Given the description of an element on the screen output the (x, y) to click on. 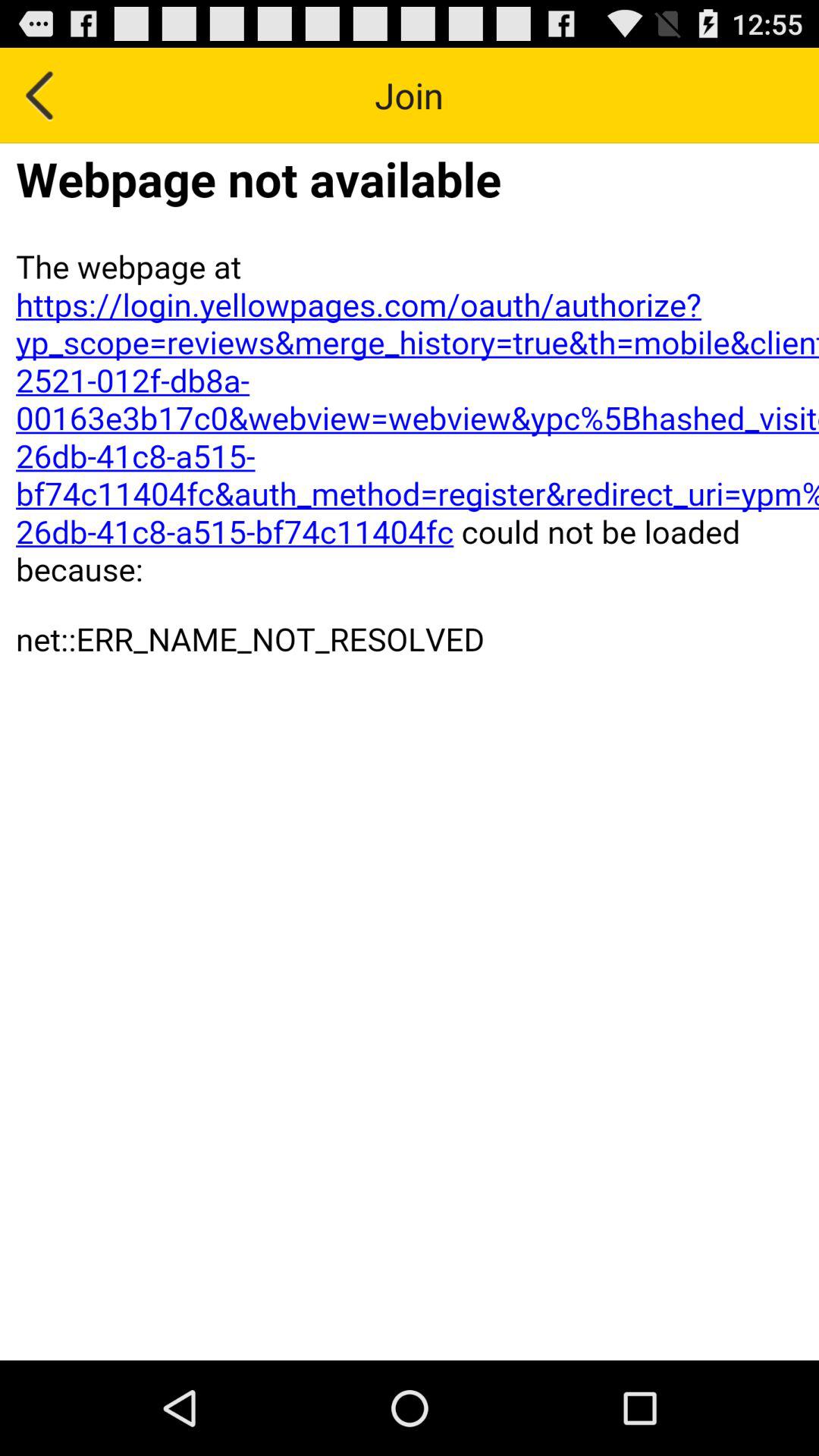
go back (40, 95)
